Given the description of an element on the screen output the (x, y) to click on. 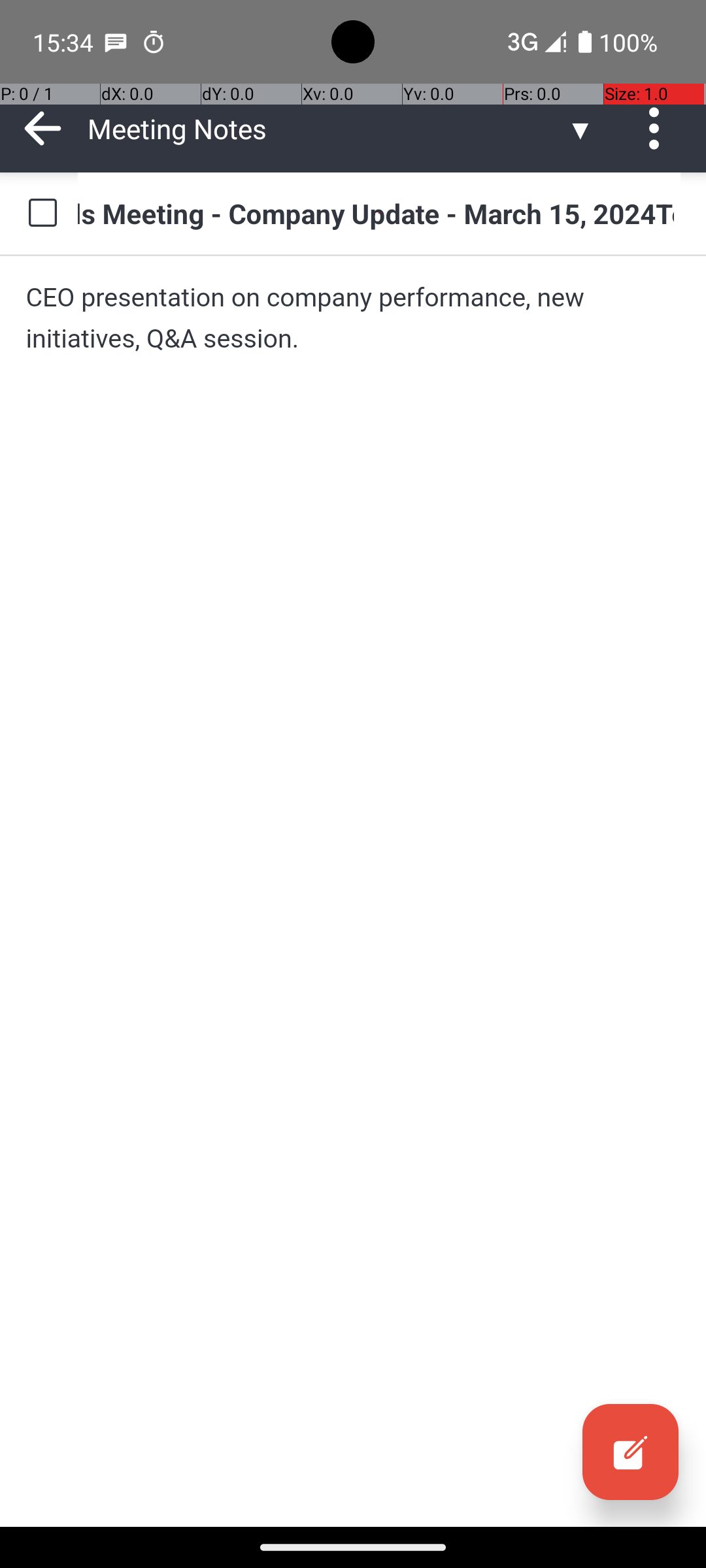
All-Hands Meeting - Company UAll-Hands Meeting - Company Update - March 15, 2024Test Inputpdate - February 7, 2024 Element type: android.widget.EditText (378, 213)
CEO presentation on company performance, new initiatives, Q&A session. Element type: android.widget.TextView (352, 317)
